Given the description of an element on the screen output the (x, y) to click on. 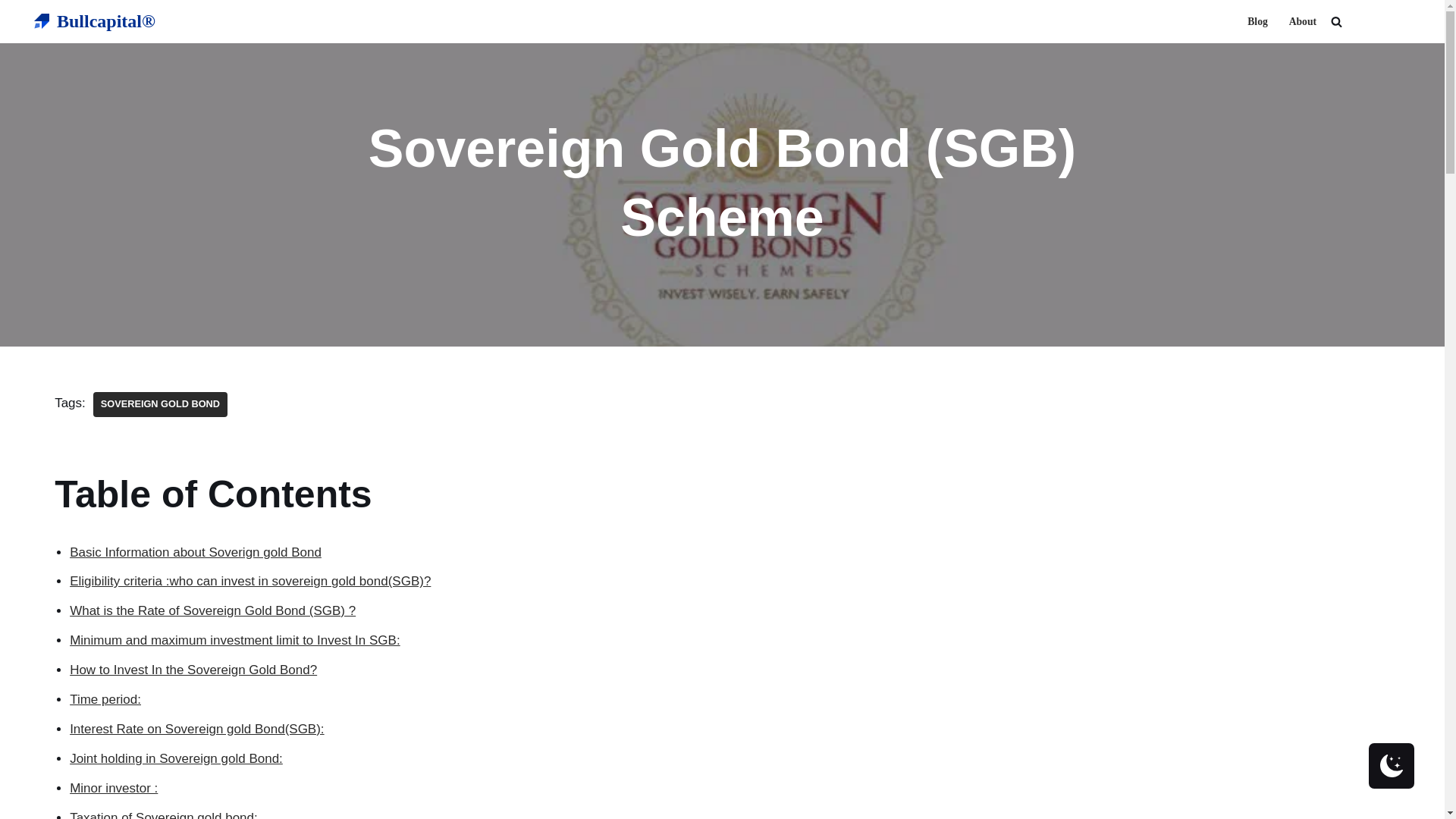
Minimum and maximum investment limit to Invest In SGB: (234, 640)
Minor investor : (113, 788)
Basic Information about Soverign gold Bond (195, 552)
Joint holding in Sovereign gold Bond: (175, 758)
SOVEREIGN GOLD BOND (160, 404)
About (1302, 21)
Sovereign gold bond (160, 404)
How to Invest In the Sovereign Gold Bond? (193, 669)
Taxation of Sovereign gold bond: (163, 814)
Skip to content (11, 31)
